Given the description of an element on the screen output the (x, y) to click on. 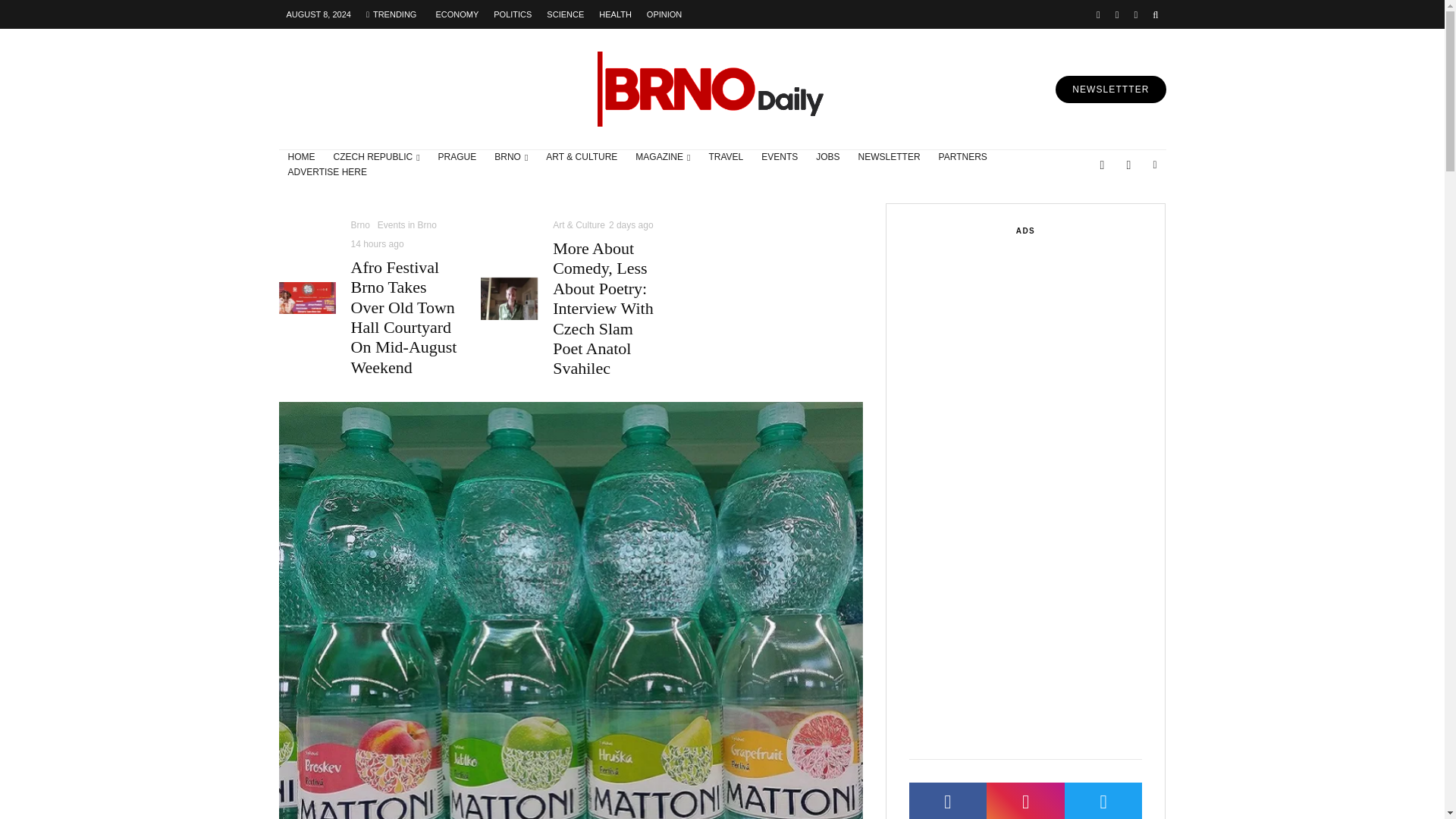
HEALTH (615, 14)
ECONOMY (457, 14)
CZECH REPUBLIC (376, 157)
SCIENCE (564, 14)
POLITICS (512, 14)
PRAGUE (457, 157)
OPINION (663, 14)
HOME (301, 157)
TRENDING (390, 14)
NEWSLETTTER (1110, 89)
